Given the description of an element on the screen output the (x, y) to click on. 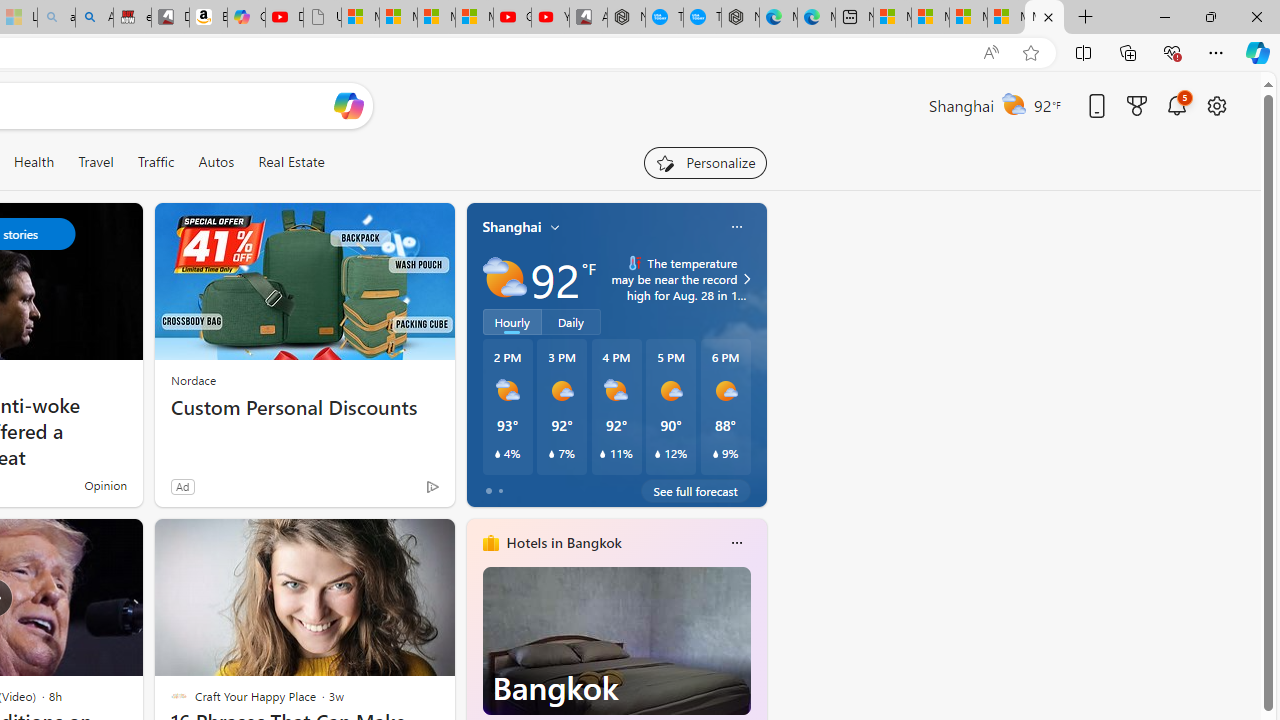
See full forecast (695, 490)
Notifications (1176, 105)
YouTube Kids - An App Created for Kids to Explore Content (550, 17)
Gloom - YouTube (512, 17)
See more (429, 542)
Health (33, 162)
Travel (95, 161)
